Given the description of an element on the screen output the (x, y) to click on. 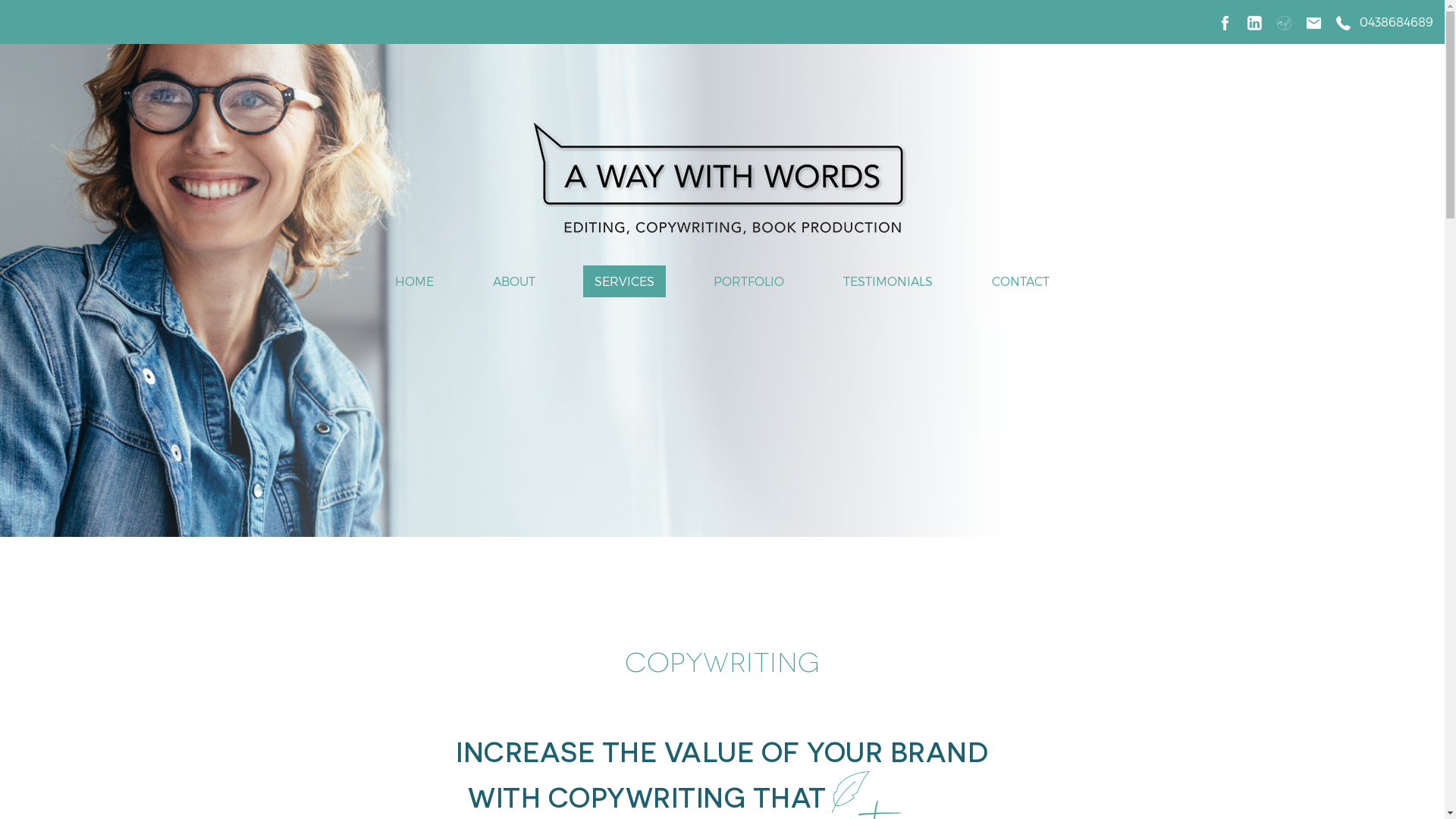
CONTACT Element type: text (1020, 281)
ABOUT Element type: text (513, 281)
0438684689 Element type: text (1396, 21)
PORTFOLIO Element type: text (748, 281)
TESTIMONIALS Element type: text (887, 281)
SERVICES Element type: text (624, 281)
Copywriting Element type: hover (722, 289)
HOME Element type: text (414, 281)
